Given the description of an element on the screen output the (x, y) to click on. 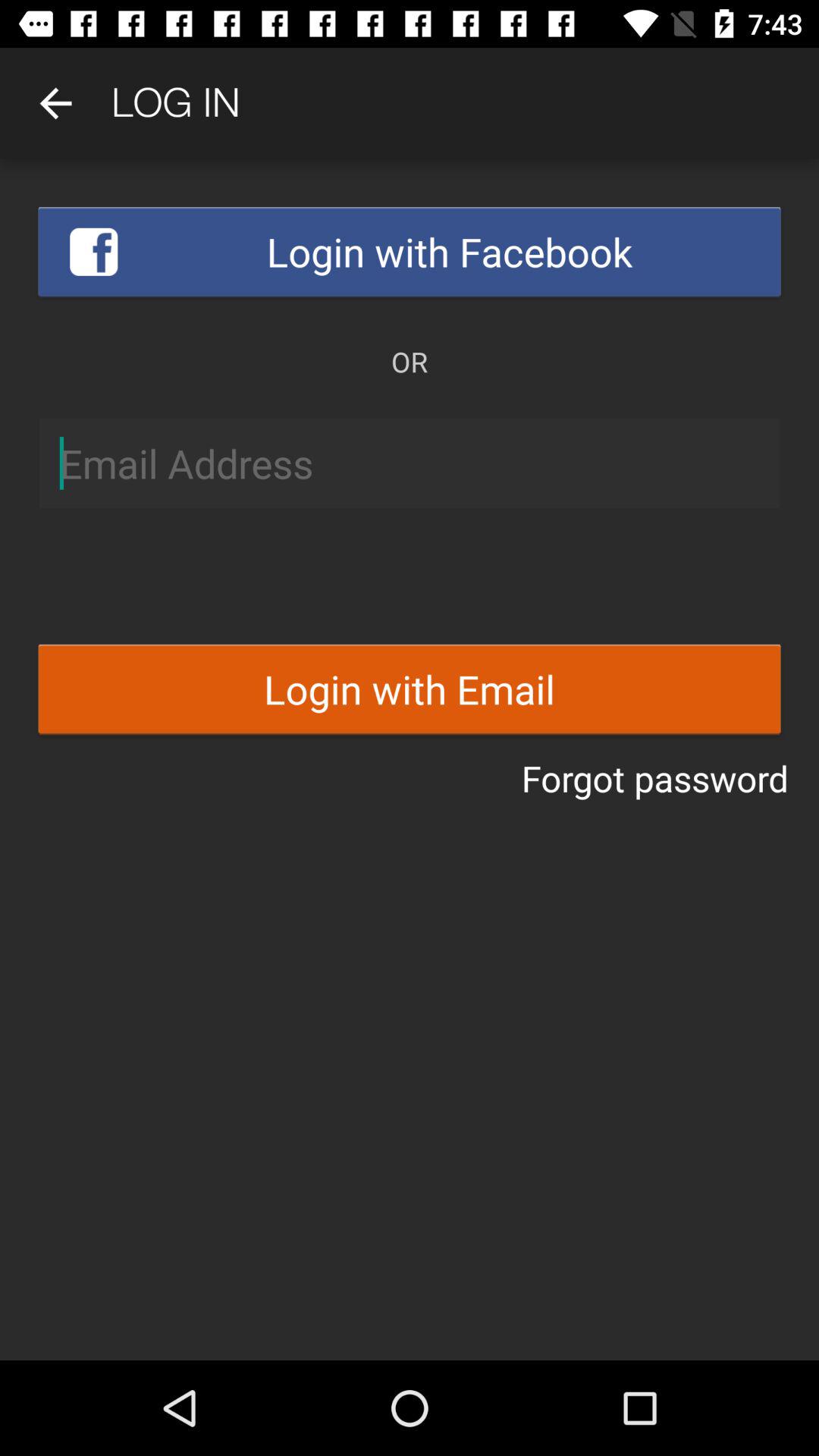
bar to enter email (409, 463)
